Given the description of an element on the screen output the (x, y) to click on. 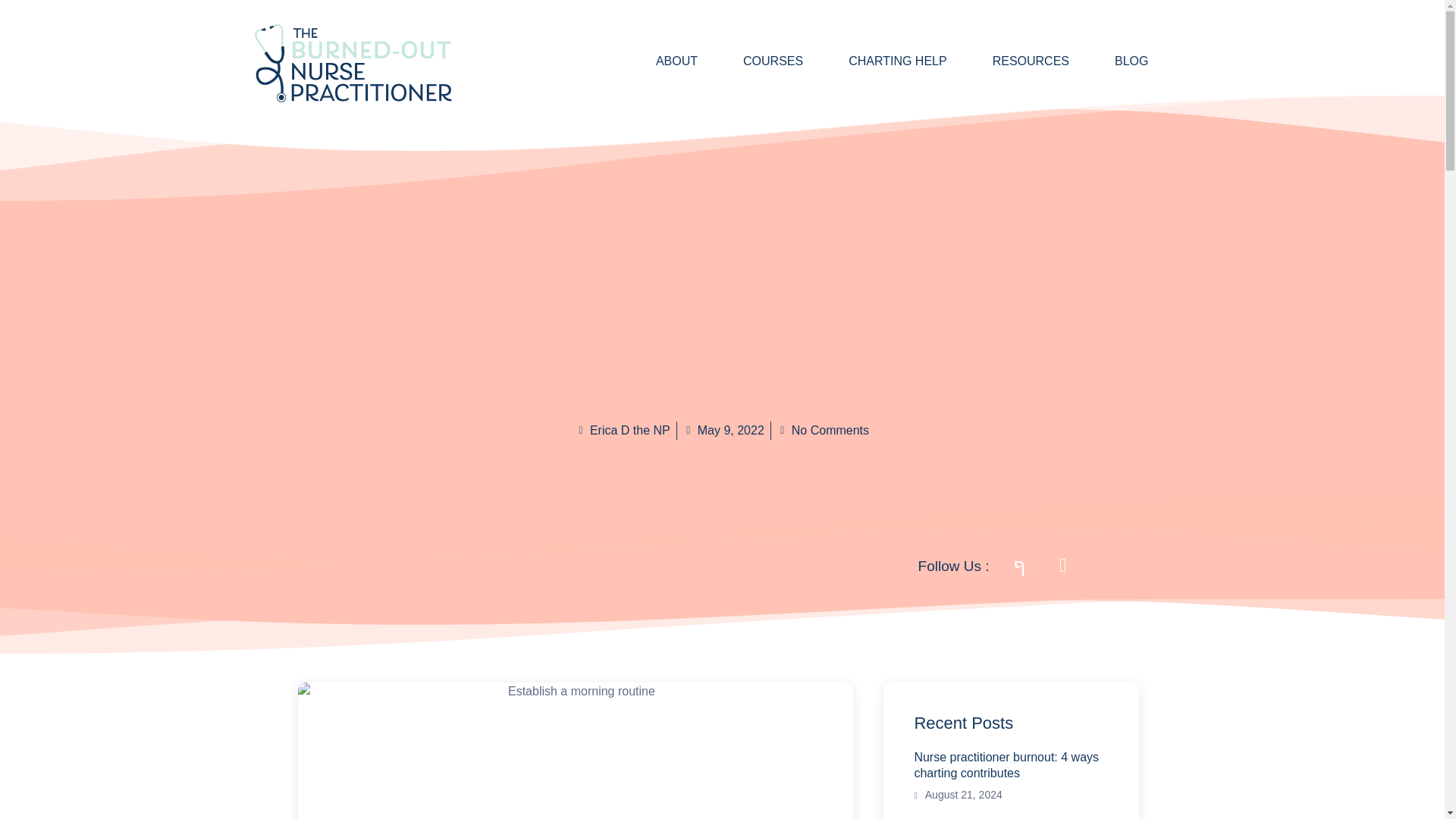
CHARTING HELP (875, 61)
ABOUT (653, 61)
RESOURCES (1007, 61)
May 9, 2022 (723, 430)
COURSES (750, 61)
BLOG (1108, 61)
Erica D the NP (622, 430)
No Comments (823, 430)
